Given the description of an element on the screen output the (x, y) to click on. 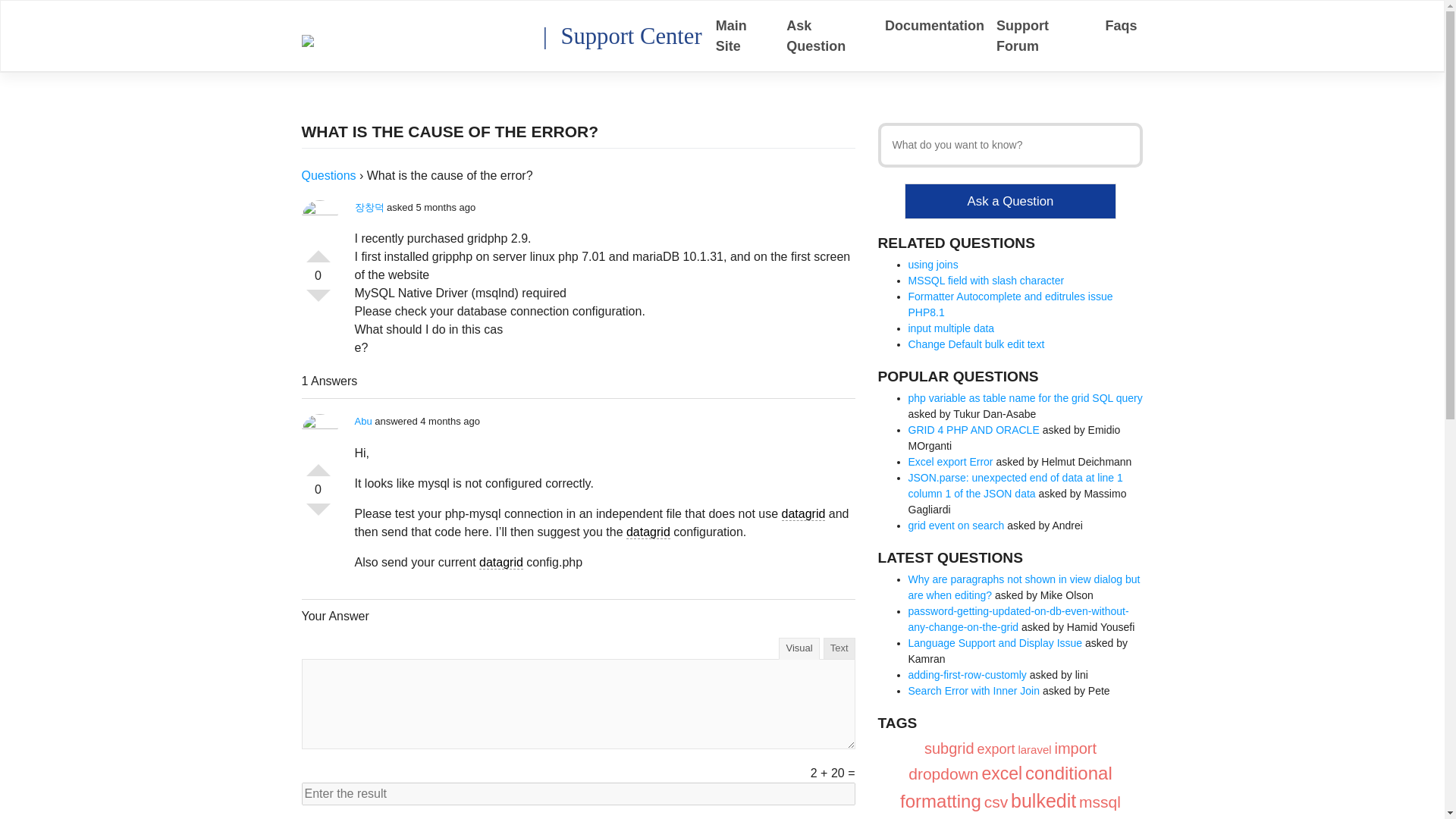
Questions (328, 174)
Main Site (745, 36)
Ask Question (829, 36)
using joins (933, 264)
Vote Down (317, 301)
Excel export Error (950, 461)
Faqs (1120, 25)
Ask a Question (1011, 201)
Abu (363, 420)
Ask Question (829, 36)
